Given the description of an element on the screen output the (x, y) to click on. 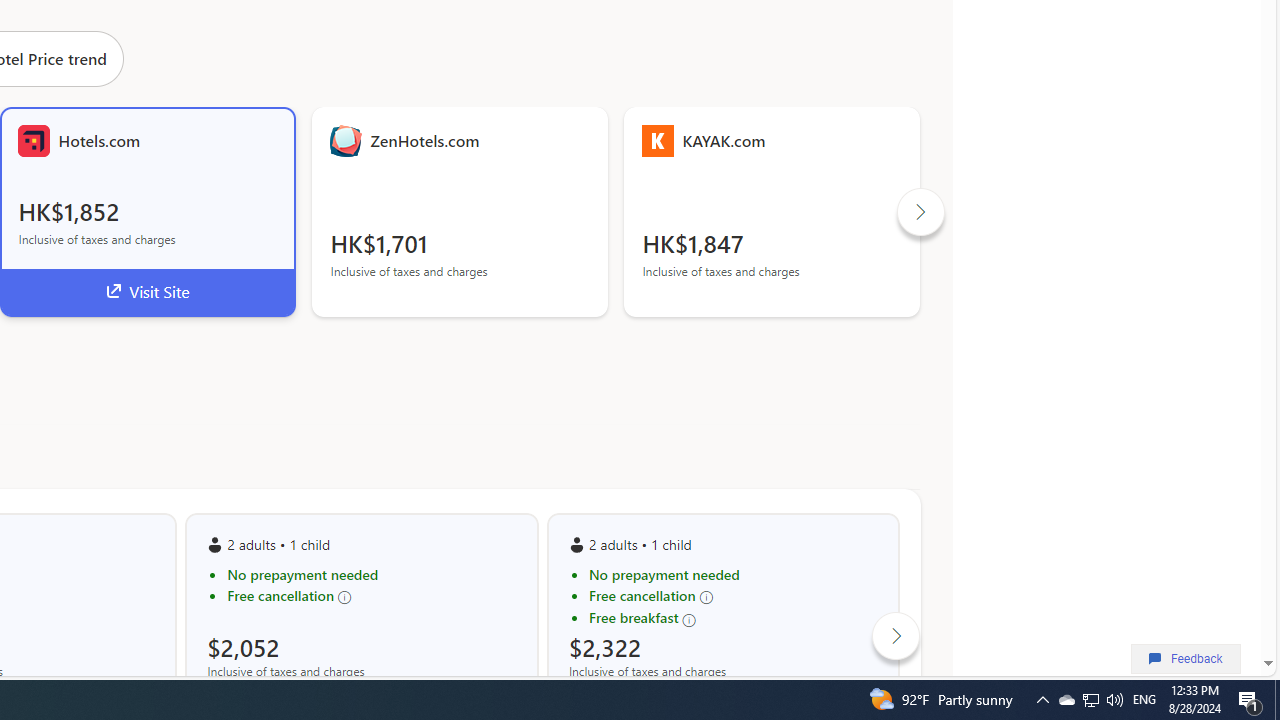
Click to scroll right (896, 635)
No prepayment needed (733, 574)
Vendor Logo (658, 140)
Free cancellation (733, 595)
Free breakfast (733, 618)
